Given the description of an element on the screen output the (x, y) to click on. 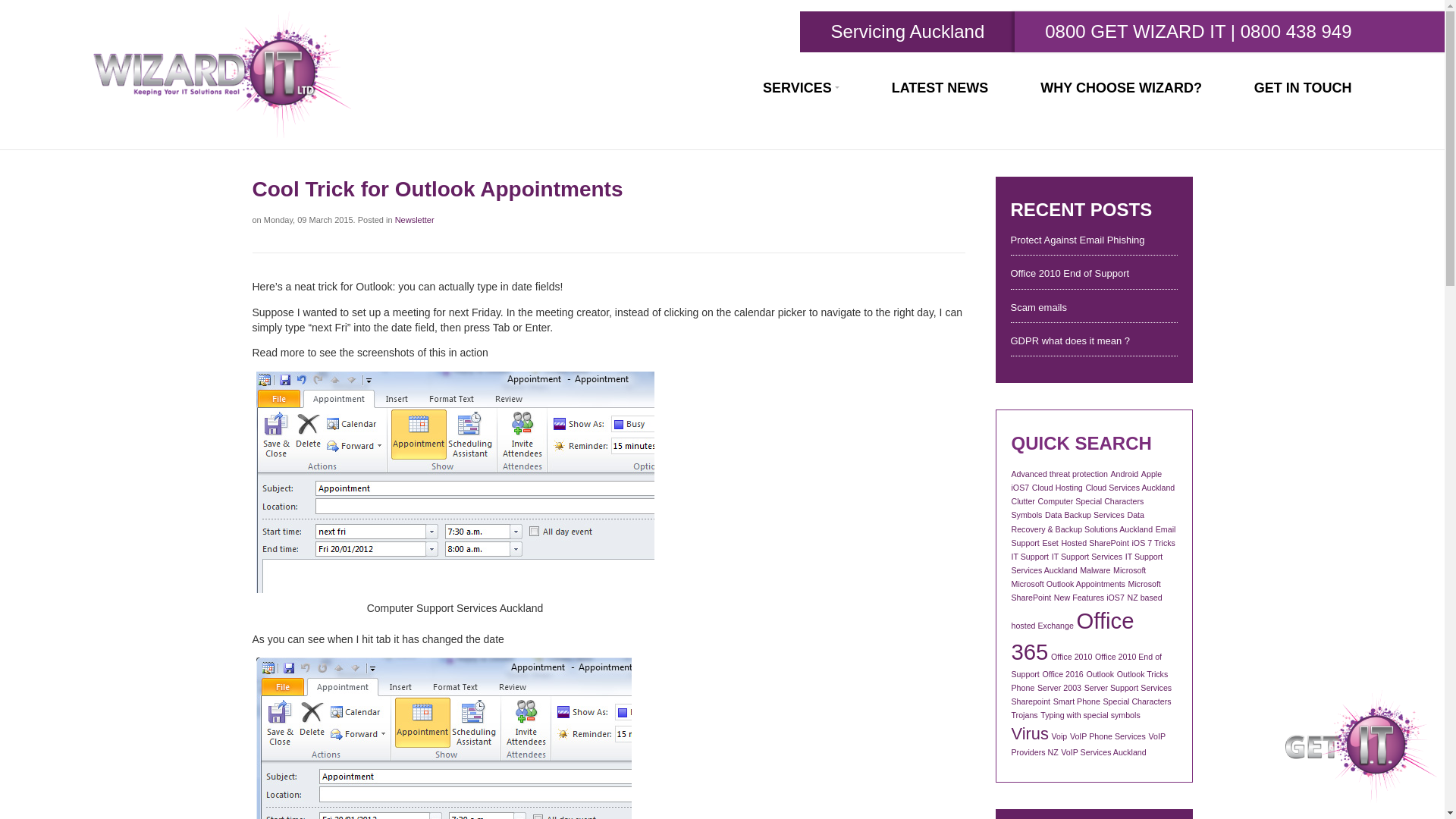
Advanced threat protection (1059, 473)
Data Backup Services (1084, 514)
Cloud Services Auckland (1129, 487)
SERVICES (801, 88)
Email Support (1093, 535)
Eset (1050, 542)
Cloud Hosting (1057, 487)
Protect Against Email Phishing (1093, 243)
Clutter (1023, 501)
GET IN TOUCH (1302, 88)
